Given the description of an element on the screen output the (x, y) to click on. 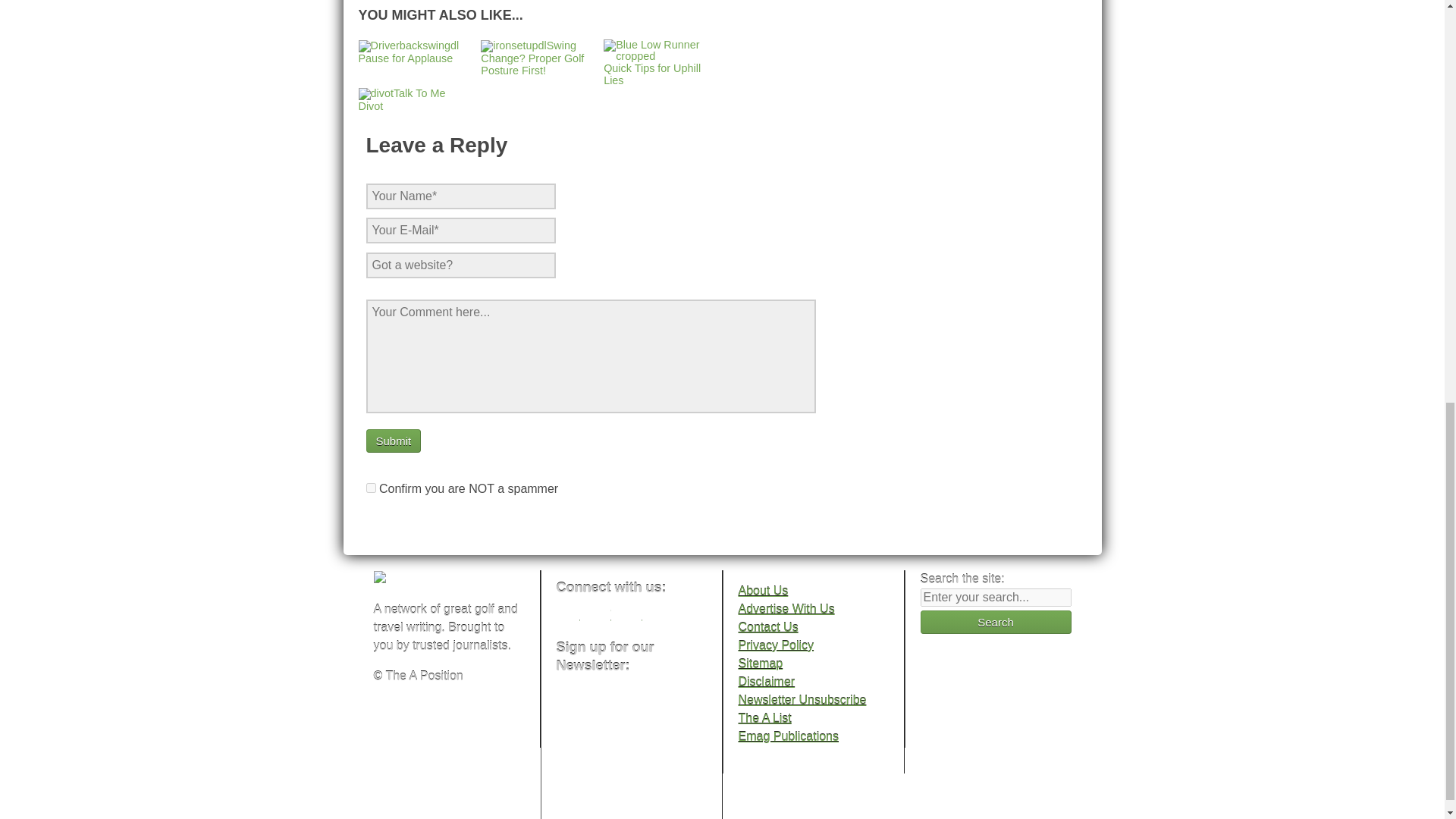
Submit (392, 440)
Search (995, 621)
on (370, 488)
Submit (392, 440)
Quick Tips for Uphill Lies (658, 67)
Swing Change? Proper Golf Posture First! (531, 57)
Pause for Applause (408, 51)
Pause for Applause (408, 51)
Facebook (567, 617)
Talk To Me Divot (401, 98)
